Given the description of an element on the screen output the (x, y) to click on. 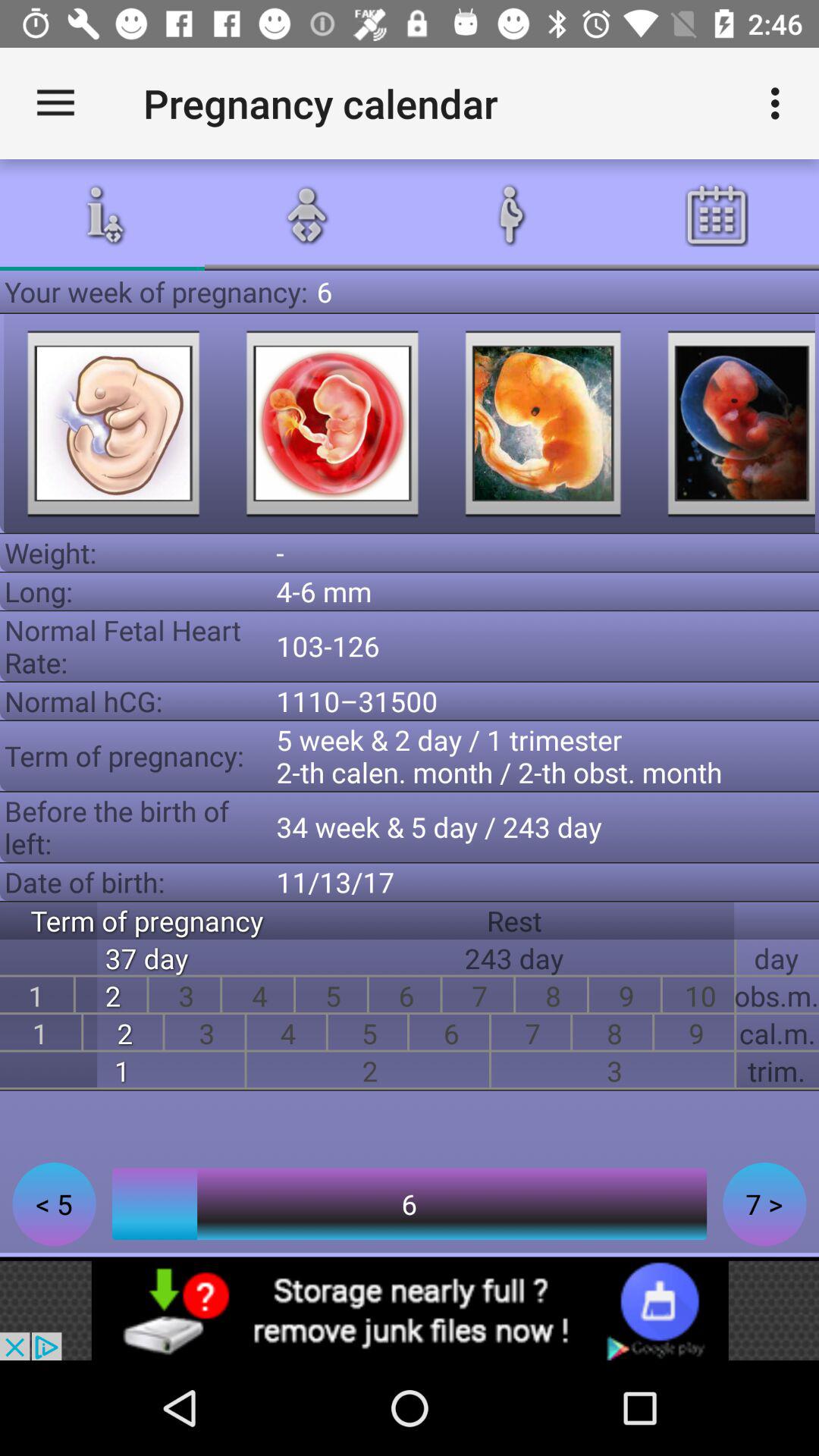
pregnancy calendar (731, 422)
